Given the description of an element on the screen output the (x, y) to click on. 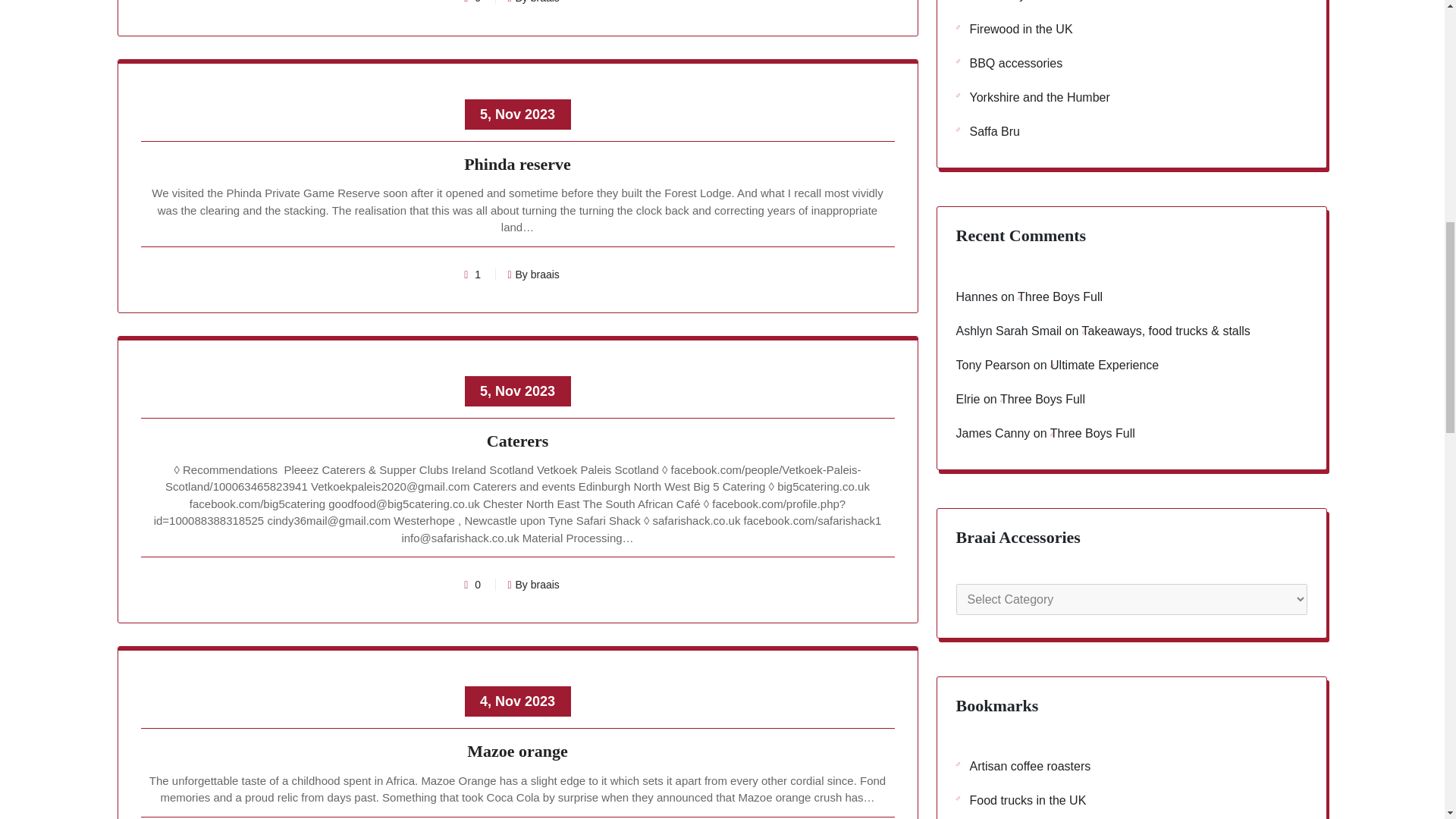
0 (478, 2)
Mazoe orange (518, 754)
0 (478, 584)
By braais (532, 584)
By braais (532, 274)
By braais (532, 2)
Phinda reserve (518, 166)
1 (478, 274)
Caterers (518, 443)
